Given the description of an element on the screen output the (x, y) to click on. 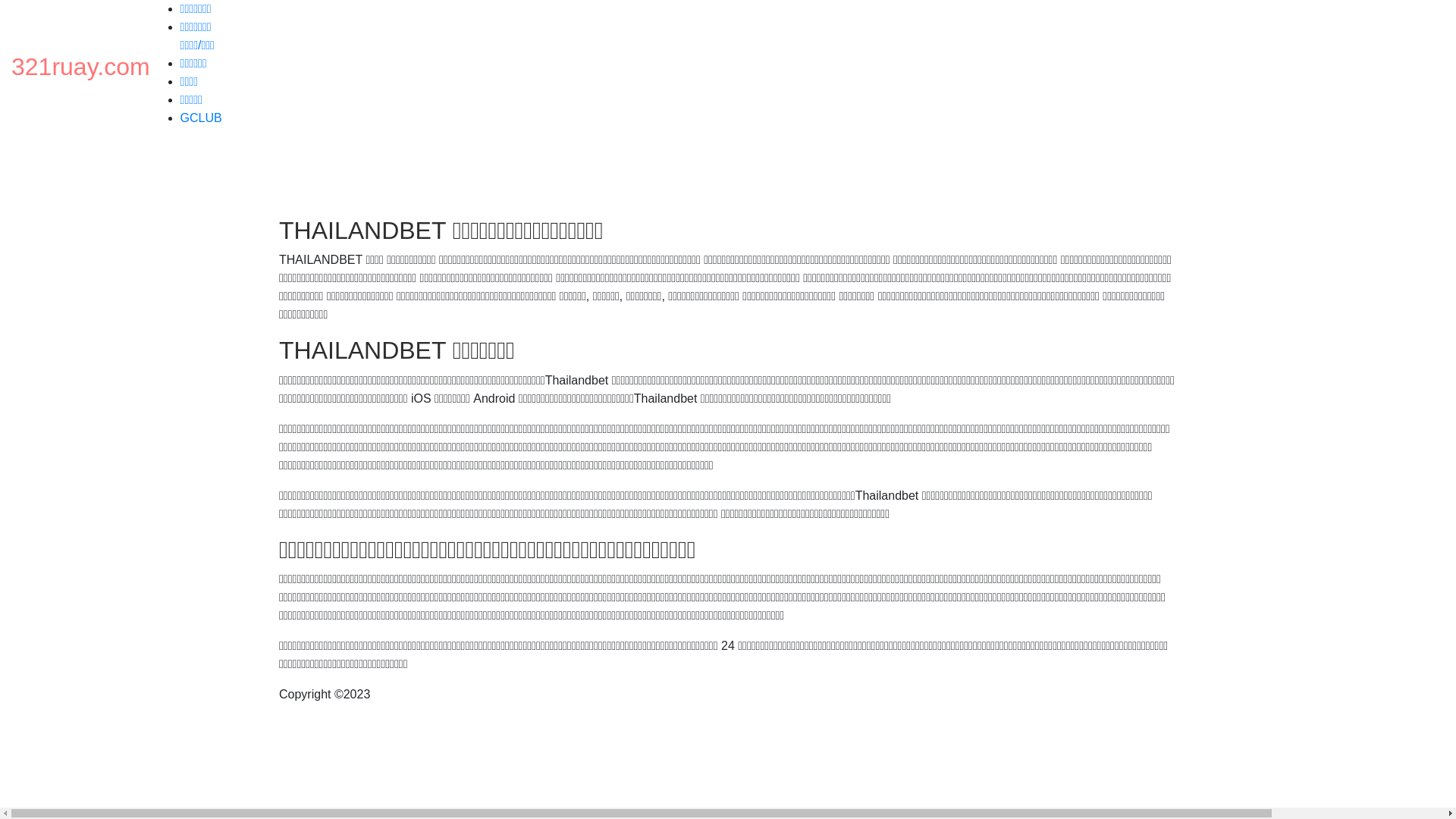
GCLUB Element type: text (201, 117)
